Given the description of an element on the screen output the (x, y) to click on. 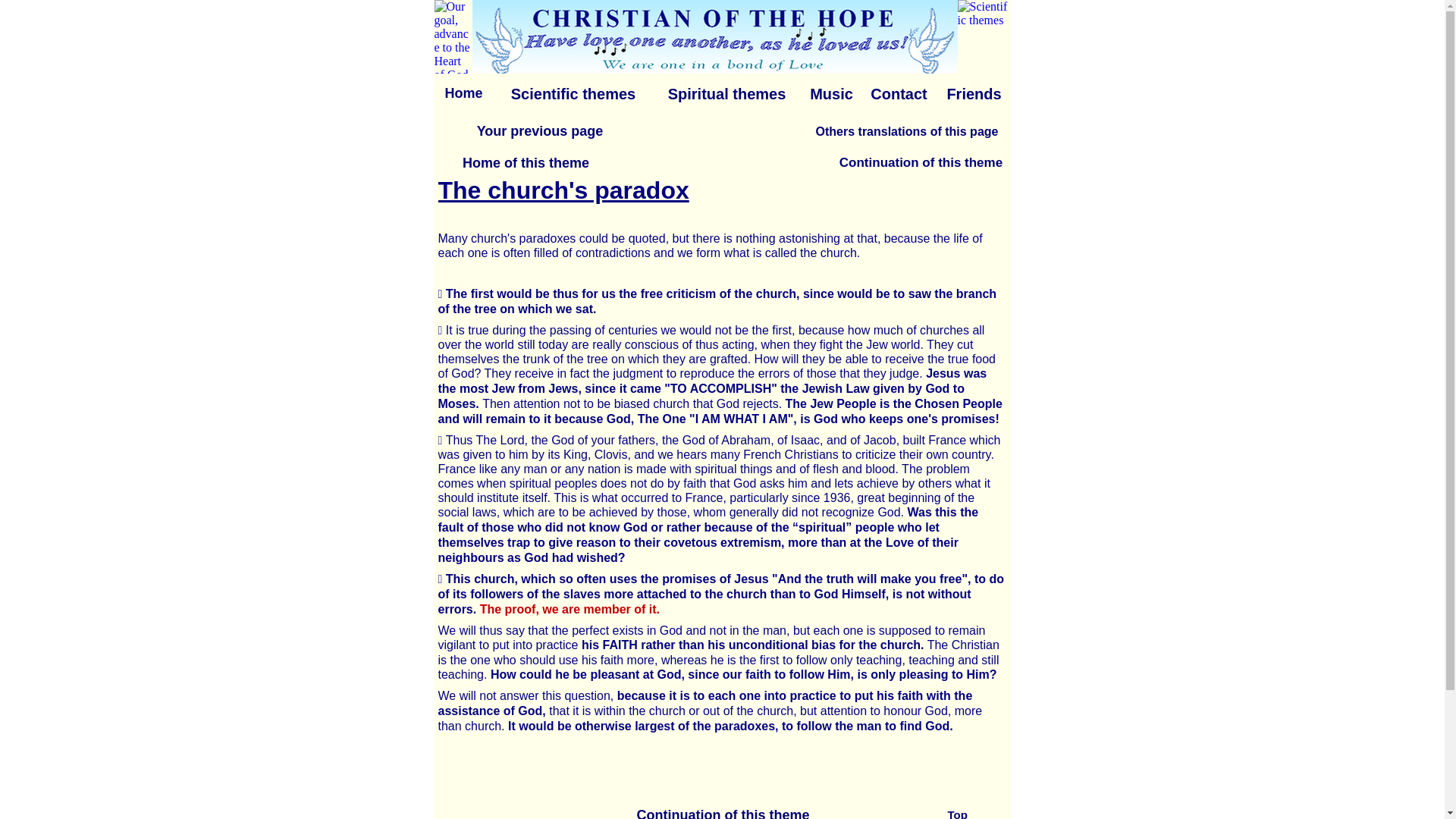
To contact us, click (713, 36)
Home of this theme (524, 162)
Others translations of this page (905, 131)
Scientific themes (573, 93)
Top (972, 811)
Continuation of this theme (722, 811)
Continuation of this theme (919, 162)
Home (463, 93)
Your previous page (538, 130)
Music (830, 93)
